Given the description of an element on the screen output the (x, y) to click on. 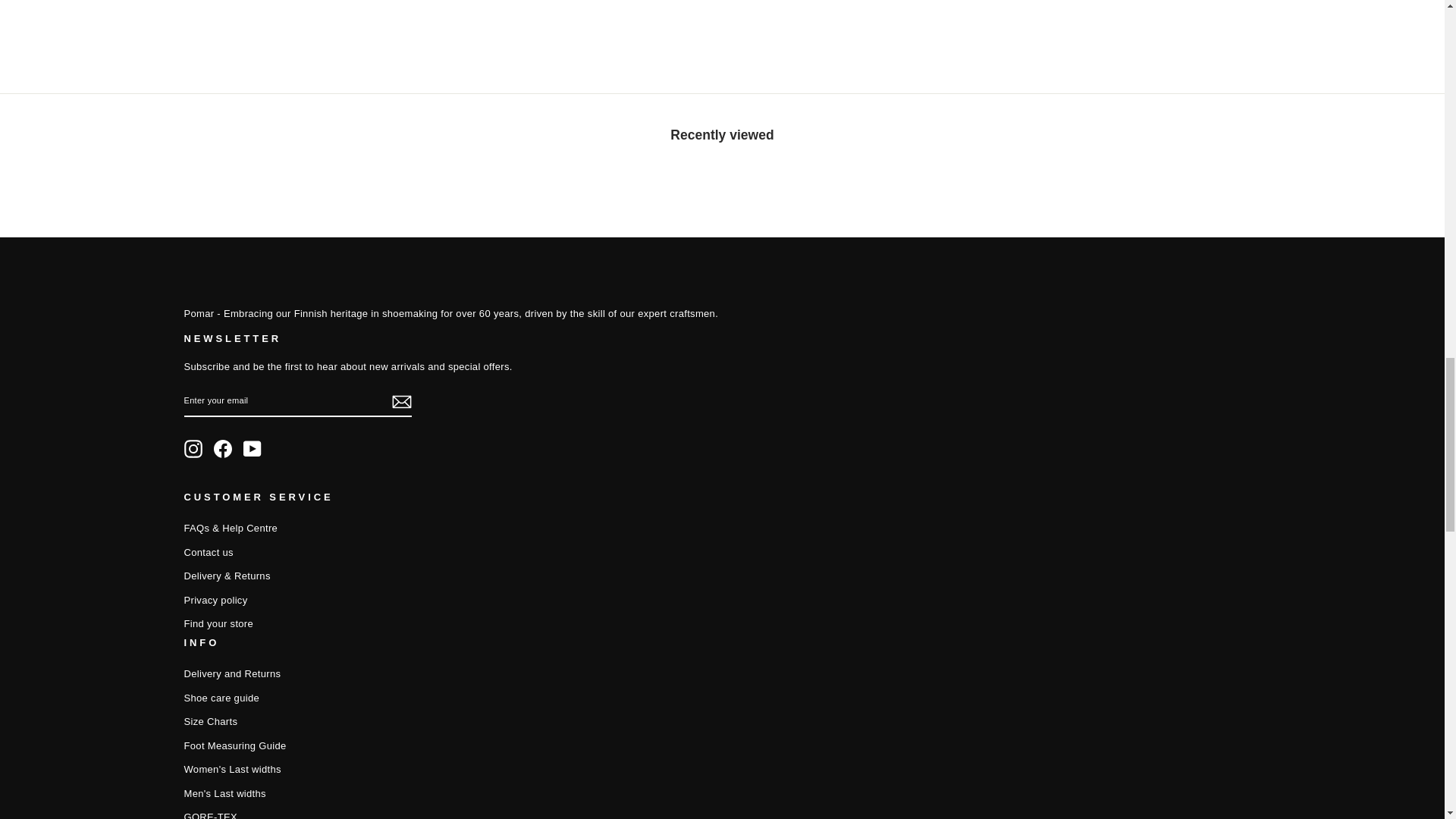
icon-email (400, 402)
instagram (192, 448)
Pomar Online Store on Instagram (192, 448)
Pomar Online Store on Facebook (222, 448)
Pomar Online Store on YouTube (251, 448)
